Given the description of an element on the screen output the (x, y) to click on. 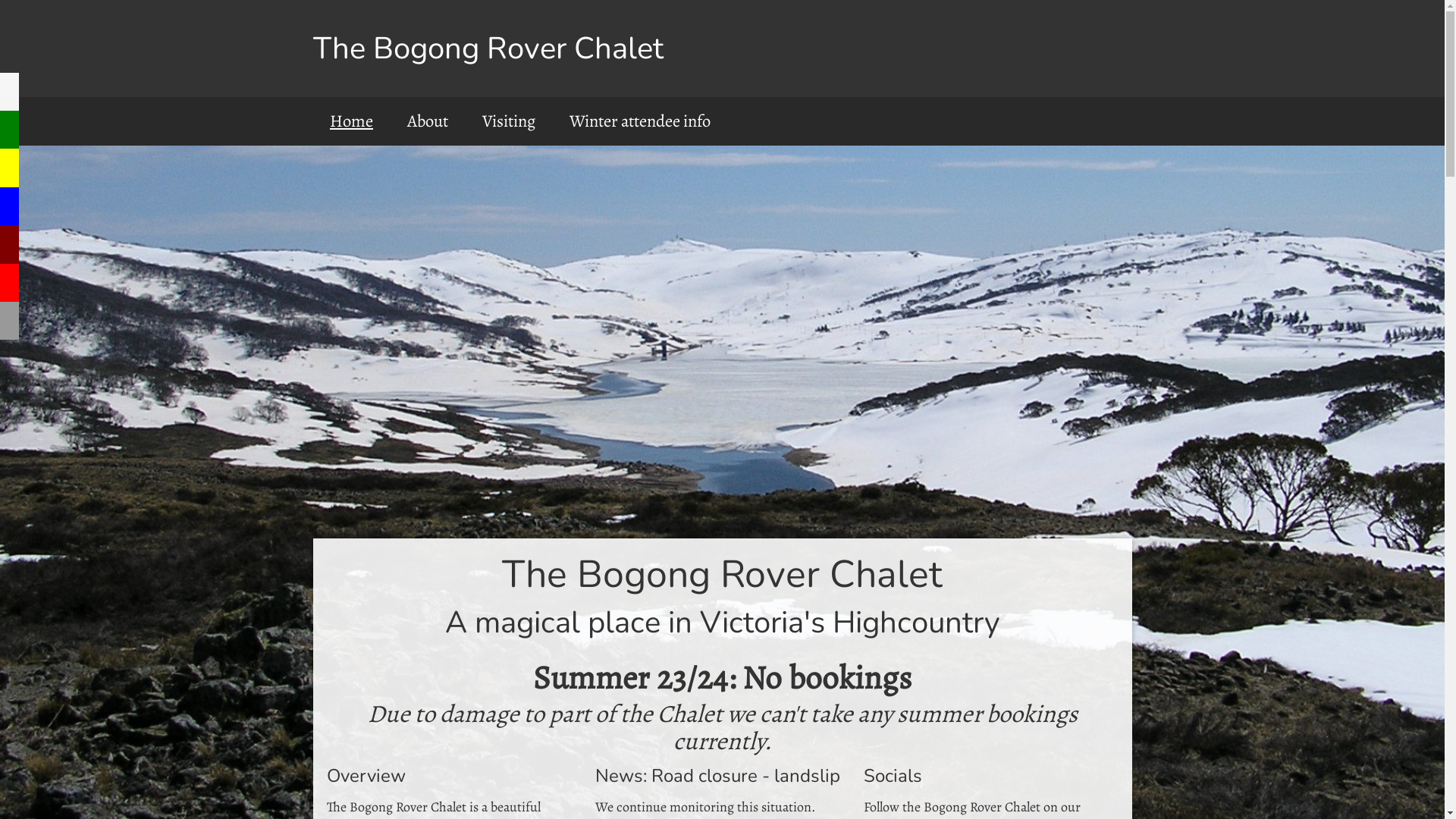
Chalet App Element type: text (9, 91)
Summer Element type: text (9, 167)
Top Element type: text (9, 129)
Ski Moot Element type: text (9, 282)
Home Element type: text (351, 120)
Snow Venture Element type: text (9, 244)
More info Element type: text (9, 320)
Winter Element type: text (9, 206)
